Given the description of an element on the screen output the (x, y) to click on. 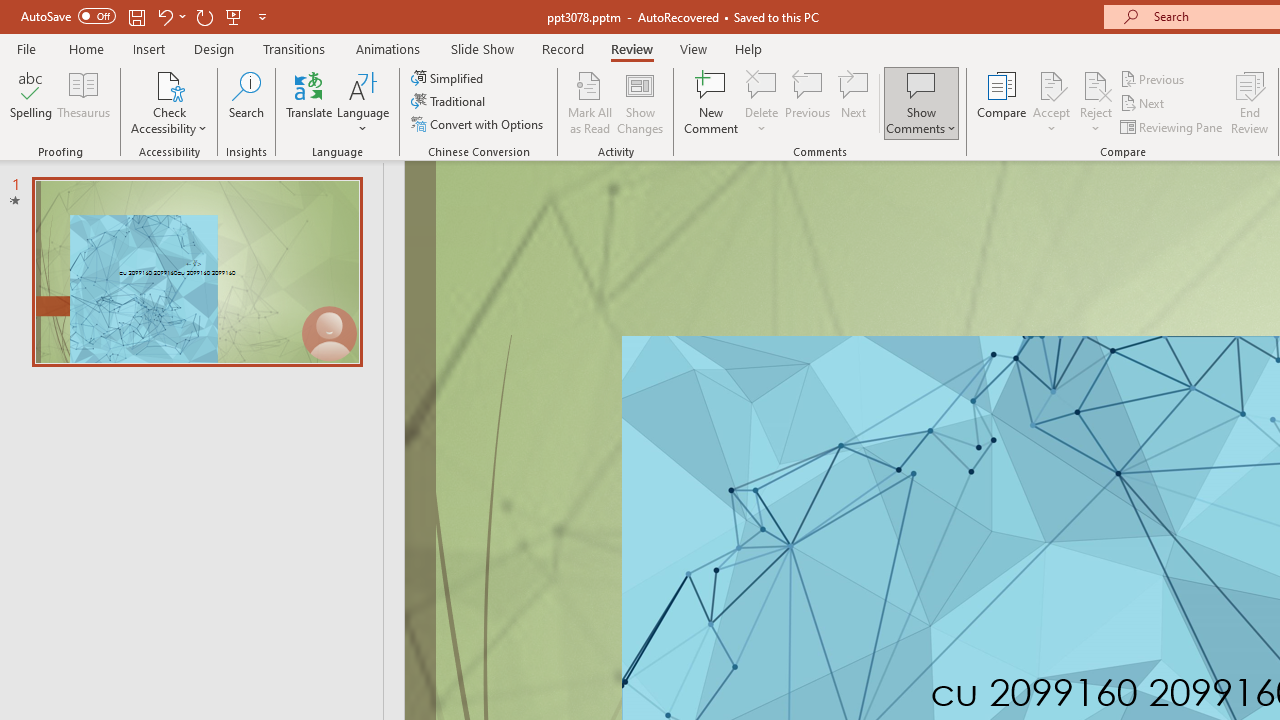
Delete (762, 84)
Thesaurus... (83, 102)
Check Accessibility (169, 84)
Traditional (449, 101)
Delete (762, 102)
Language (363, 102)
Check Accessibility (169, 102)
Show Changes (639, 102)
Show Comments (921, 84)
Show Comments (921, 102)
